Given the description of an element on the screen output the (x, y) to click on. 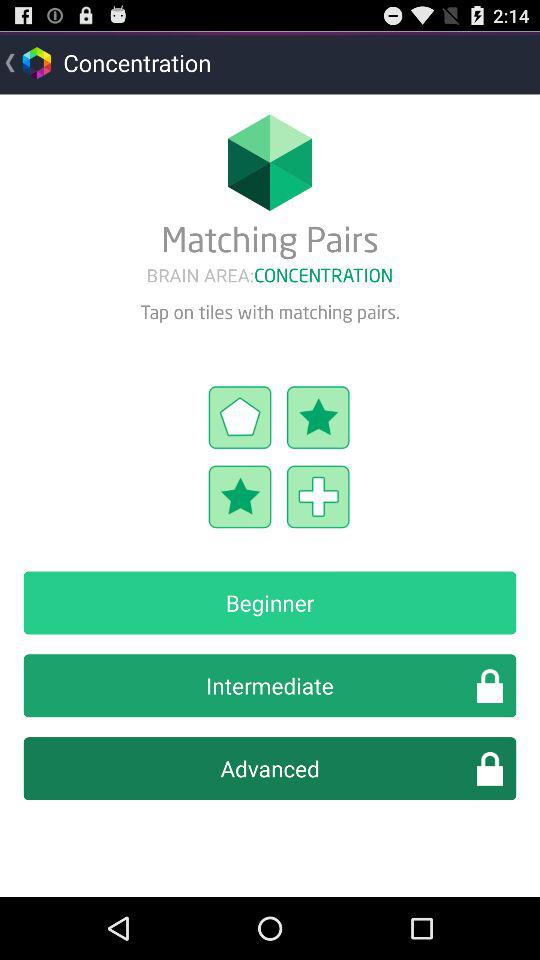
press icon above intermediate icon (269, 602)
